Given the description of an element on the screen output the (x, y) to click on. 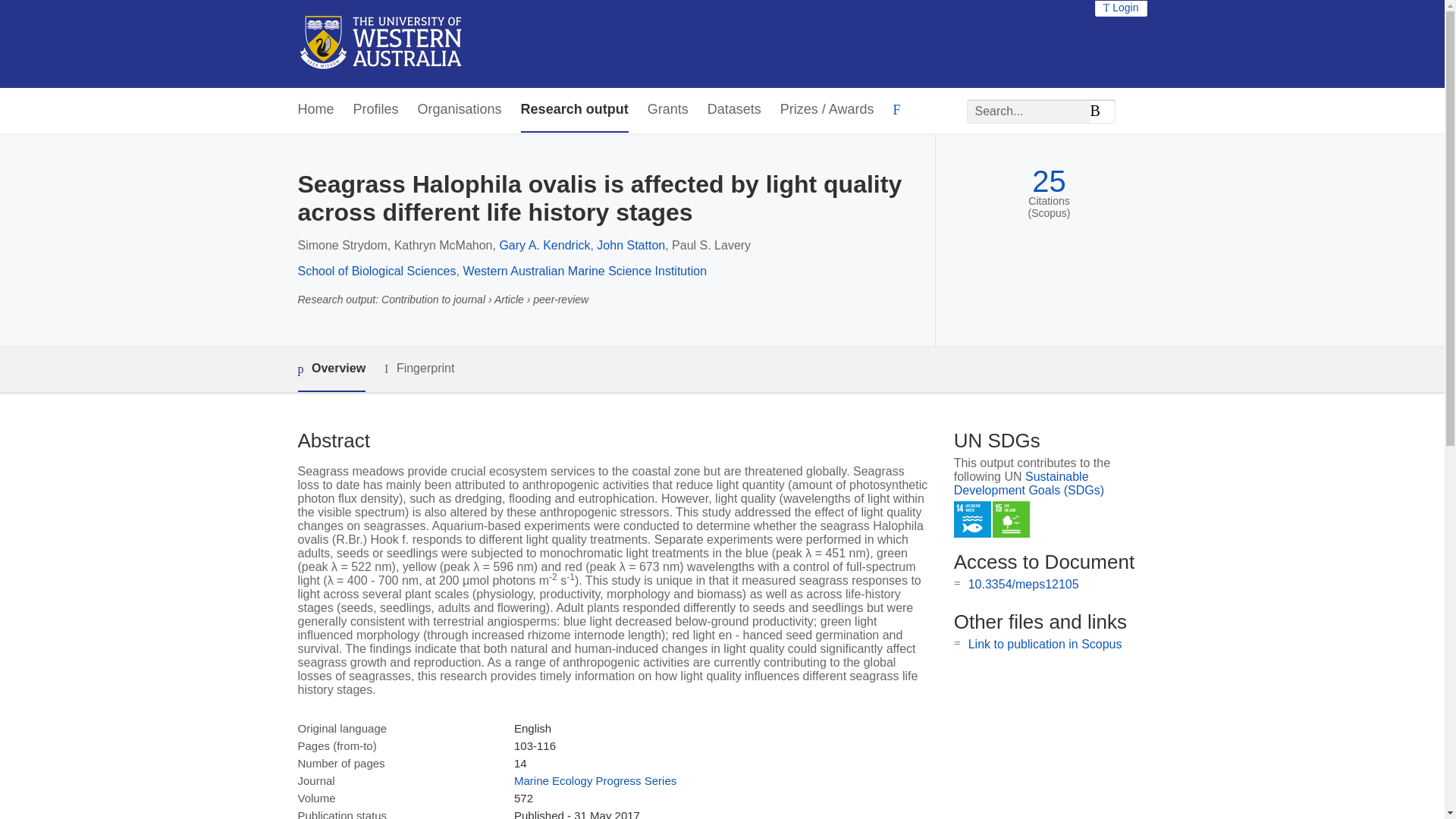
John Statton (630, 245)
Research output (574, 109)
Fingerprint (419, 368)
Gary A. Kendrick (544, 245)
Overview (331, 369)
SDG 14 - Life Below Water (972, 519)
Western Australian Marine Science Institution (584, 270)
the UWA Profiles and Research Repository Home (380, 43)
SDG 15 - Life on Land (1010, 519)
School of Biological Sciences (376, 270)
25 (1048, 181)
Grants (667, 109)
Profiles (375, 109)
Link to publication in Scopus (1045, 644)
Organisations (459, 109)
